Given the description of an element on the screen output the (x, y) to click on. 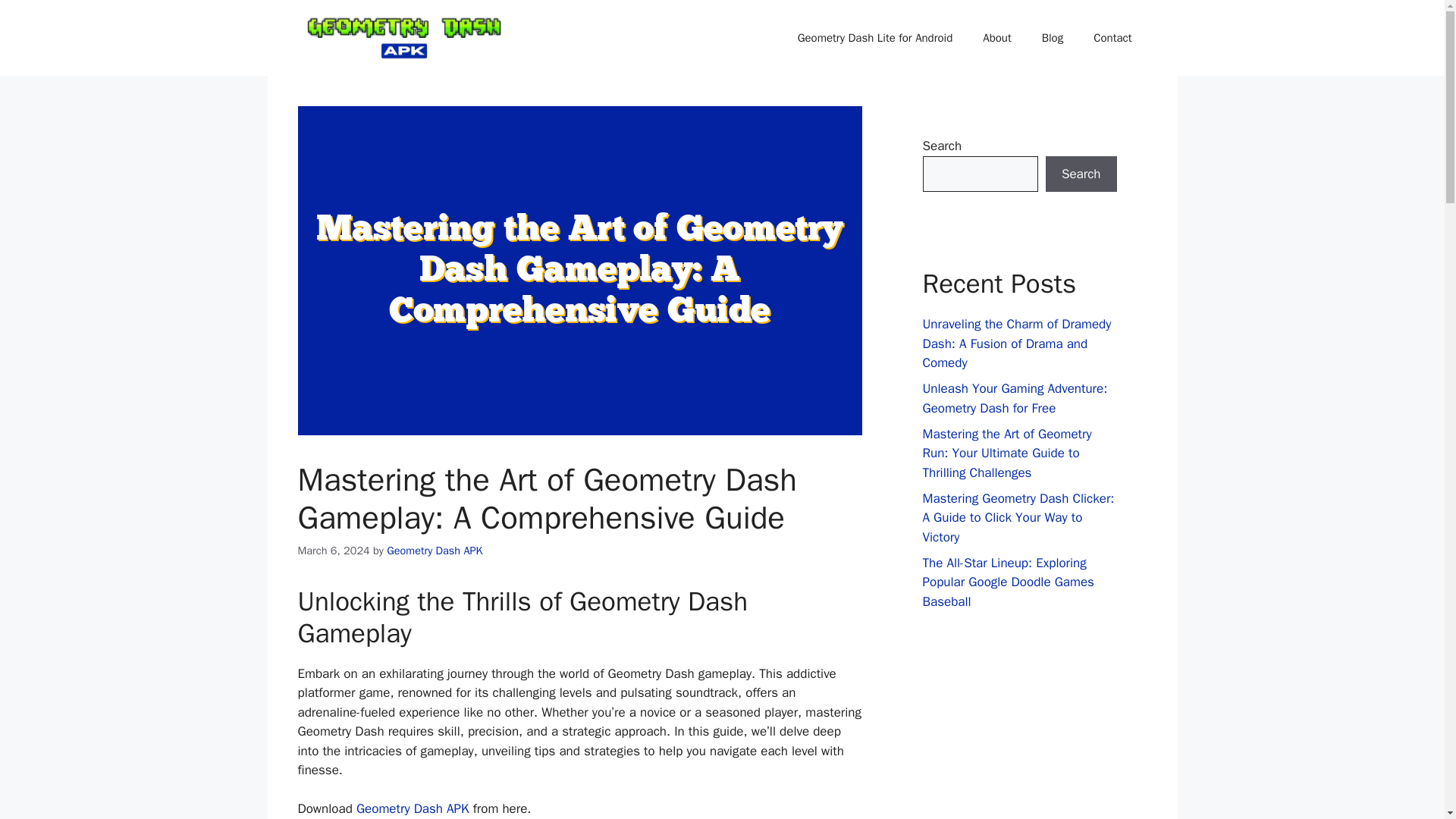
Search (1080, 174)
Geometry Dash APK (434, 550)
Blog (1052, 37)
About (997, 37)
View all posts by Geometry Dash APK (434, 550)
Contact (1112, 37)
Geometry Dash Lite for Android (875, 37)
Unleash Your Gaming Adventure: Geometry Dash for Free (1013, 398)
